Given the description of an element on the screen output the (x, y) to click on. 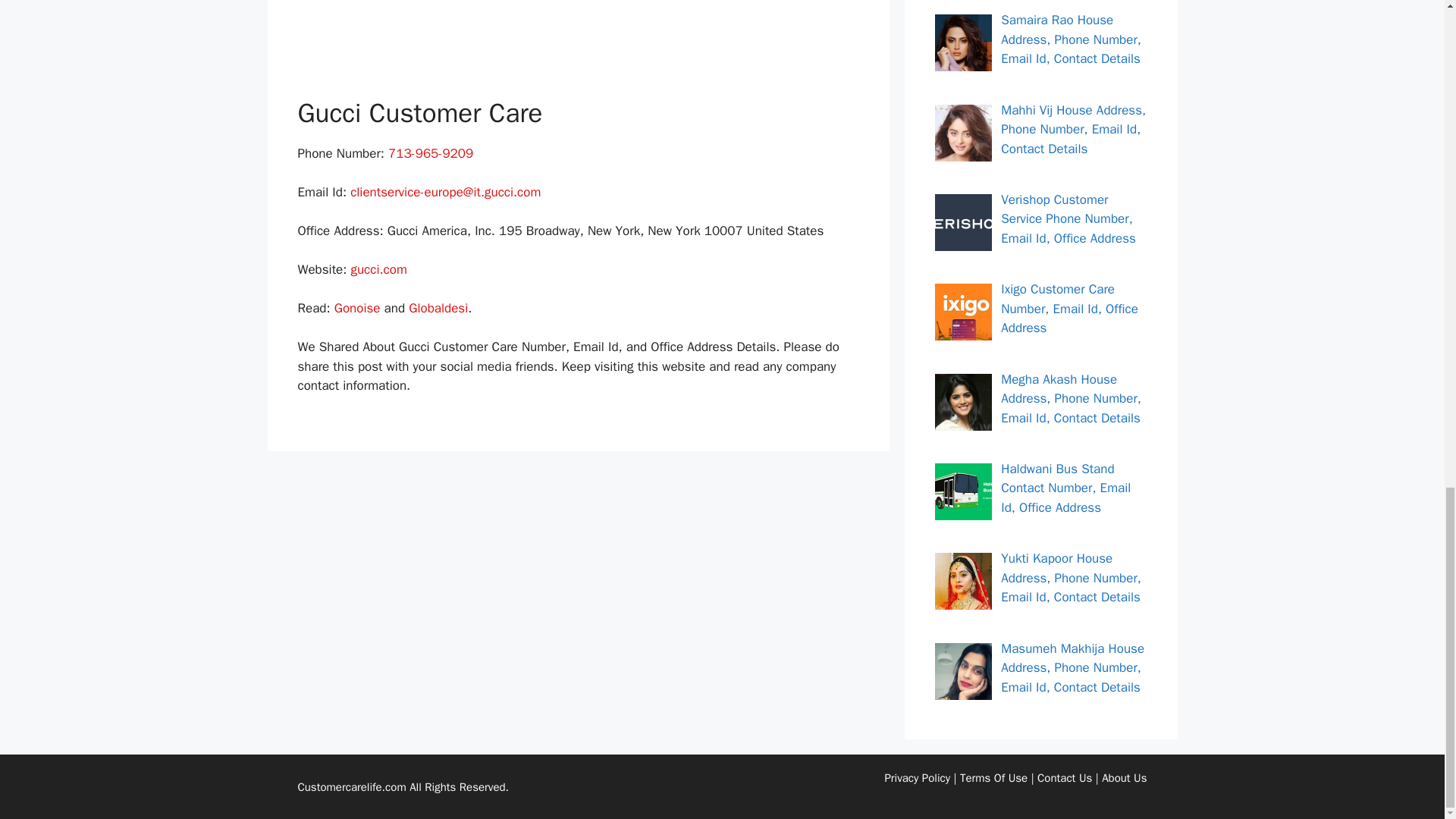
Gucci (578, 36)
gucci.com (378, 269)
Globaldesi (438, 308)
Gonoise (357, 308)
713-965-9209 (430, 153)
